Given the description of an element on the screen output the (x, y) to click on. 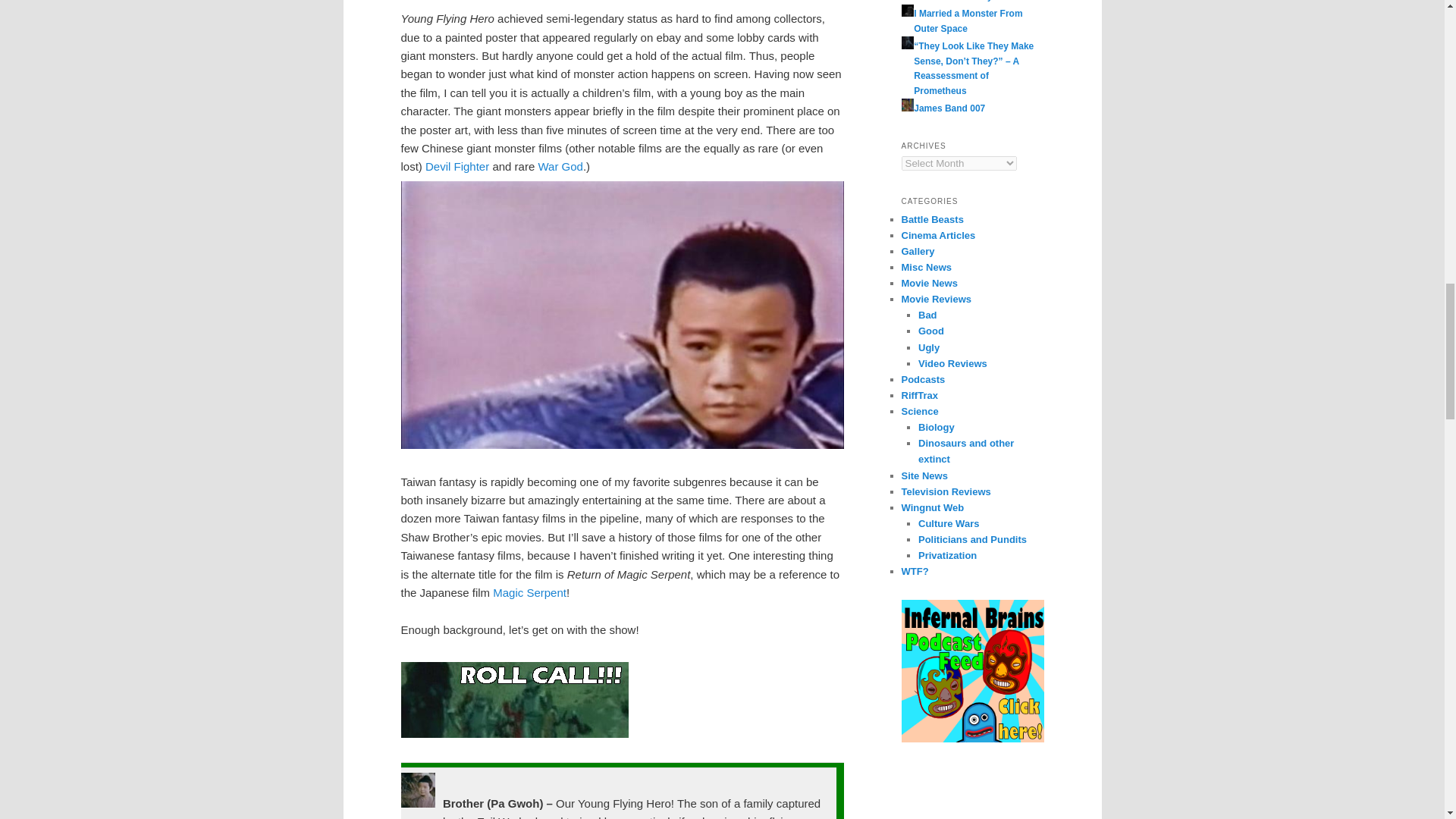
War God (559, 165)
Devil Fighter (457, 165)
Magic Serpent (529, 592)
